Given the description of an element on the screen output the (x, y) to click on. 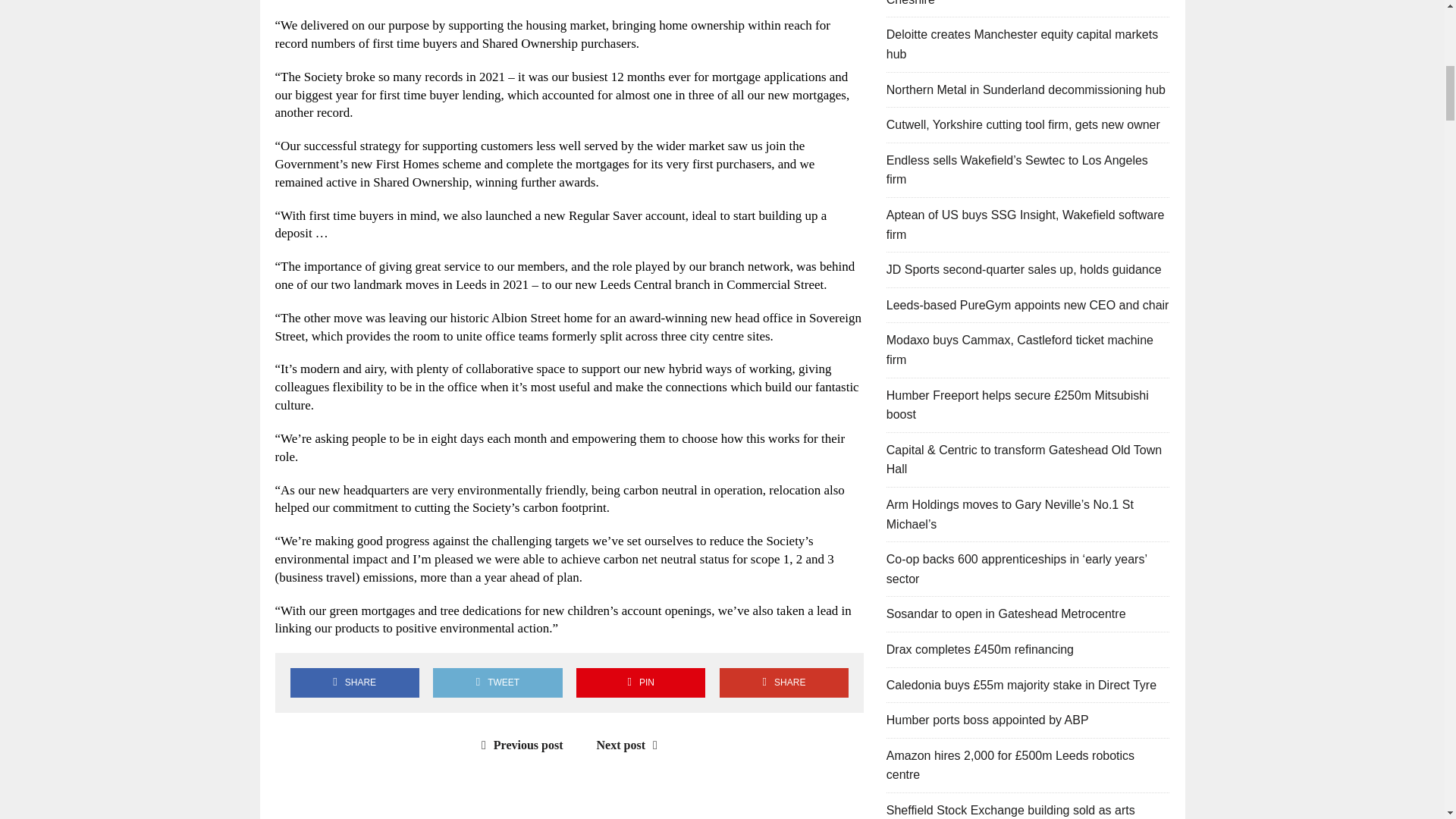
Previous post (518, 744)
Share on Facebook (354, 682)
TWEET (497, 682)
SHARE (354, 682)
Pin This Post (640, 682)
PIN (640, 682)
SHARE (783, 682)
Next post (630, 744)
Tweet This Post (497, 682)
